Given the description of an element on the screen output the (x, y) to click on. 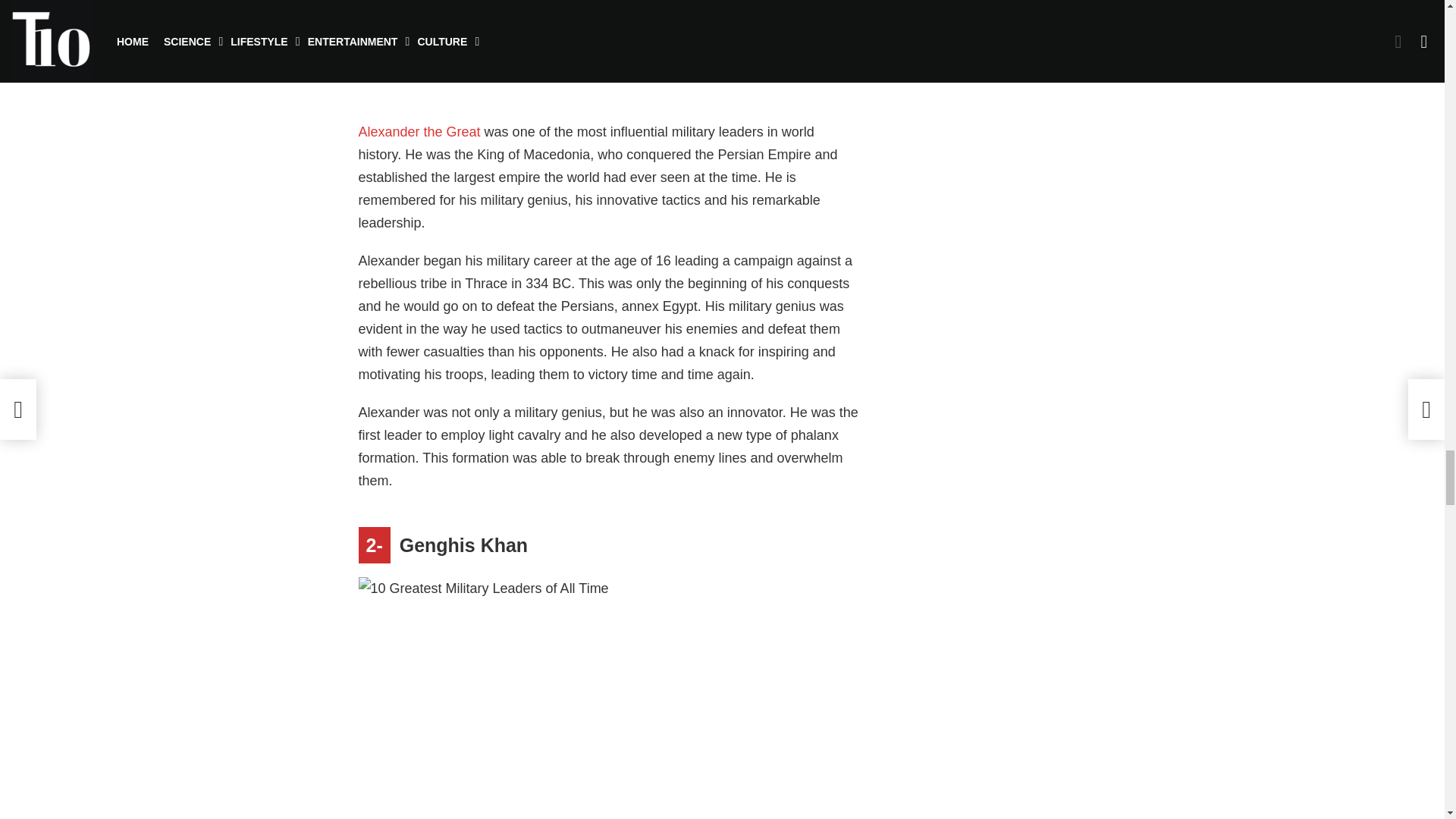
Alexander the Great (419, 131)
